Given the description of an element on the screen output the (x, y) to click on. 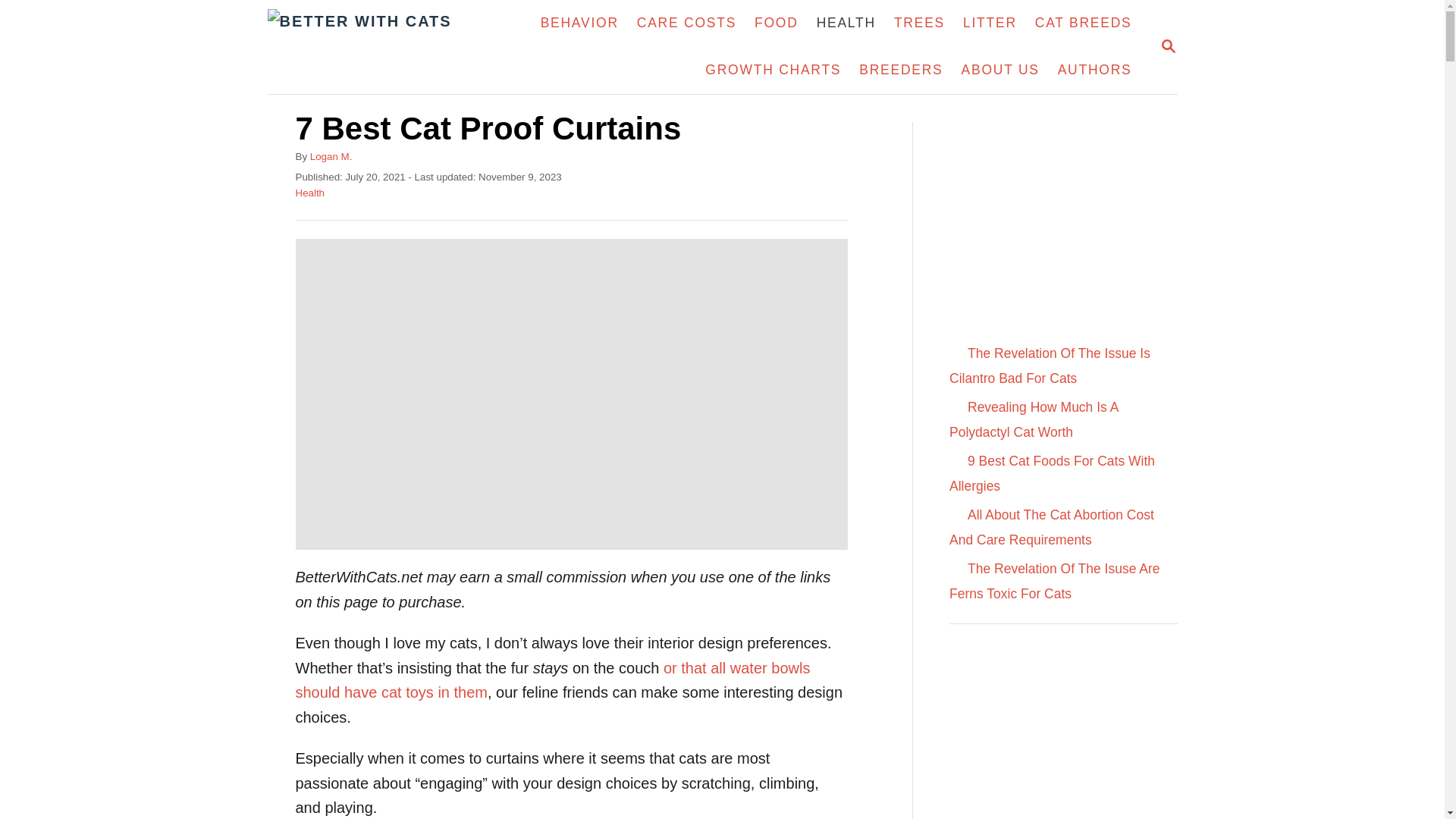
Health (309, 193)
LITTER (989, 22)
CAT BREEDS (1083, 22)
ABOUT US (1000, 70)
HEALTH (846, 22)
BEHAVIOR (579, 22)
AUTHORS (1094, 70)
GROWTH CHARTS (772, 70)
Better With Cats (389, 47)
FOOD (776, 22)
